Given the description of an element on the screen output the (x, y) to click on. 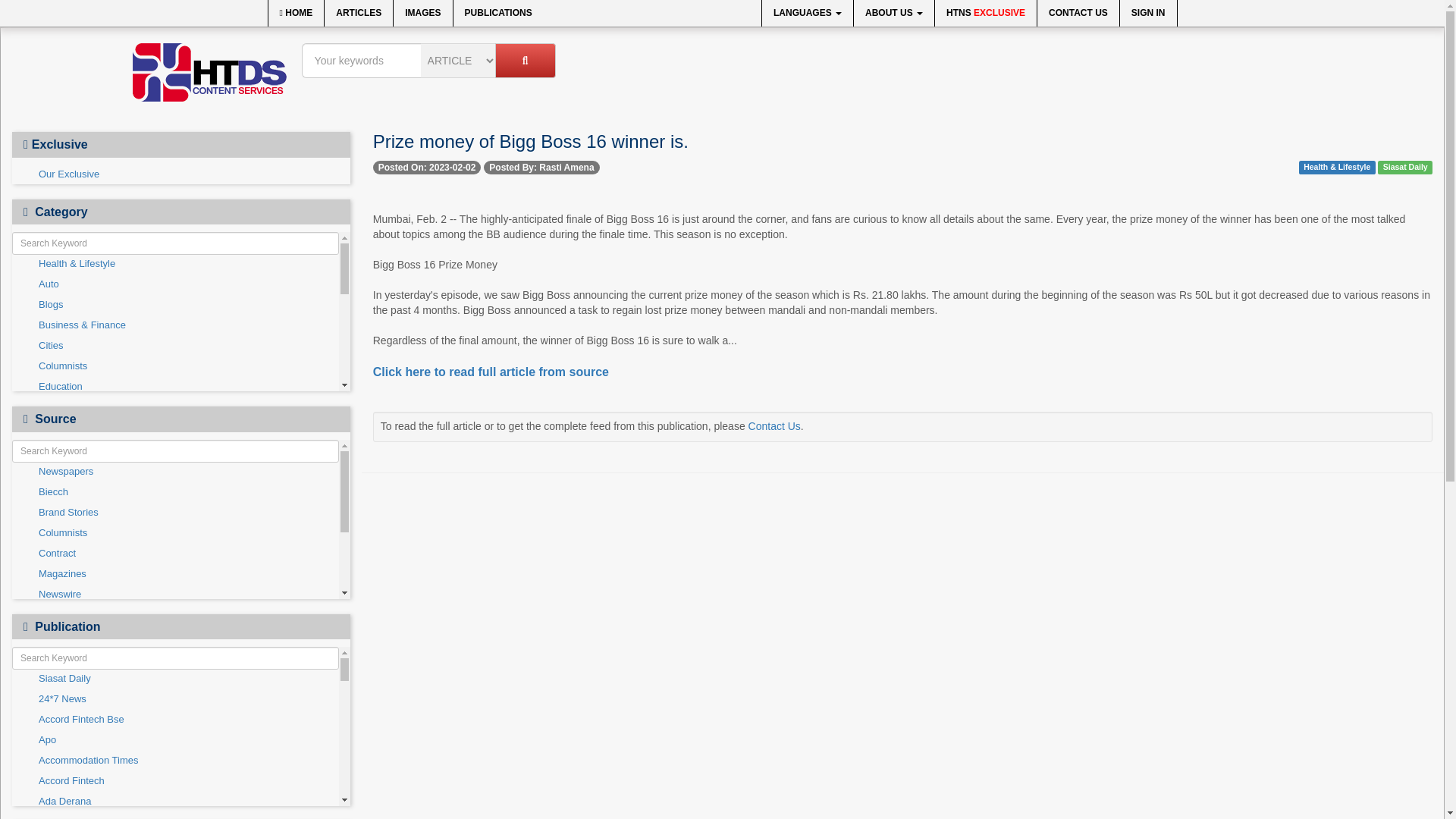
SIGN IN (1147, 13)
Government News (175, 447)
International (175, 468)
Entertainment (175, 427)
PUBLICATIONS (497, 13)
Auto (175, 284)
Press Release (175, 550)
LANGUAGES (807, 13)
Auto (175, 284)
Others (175, 509)
